Given the description of an element on the screen output the (x, y) to click on. 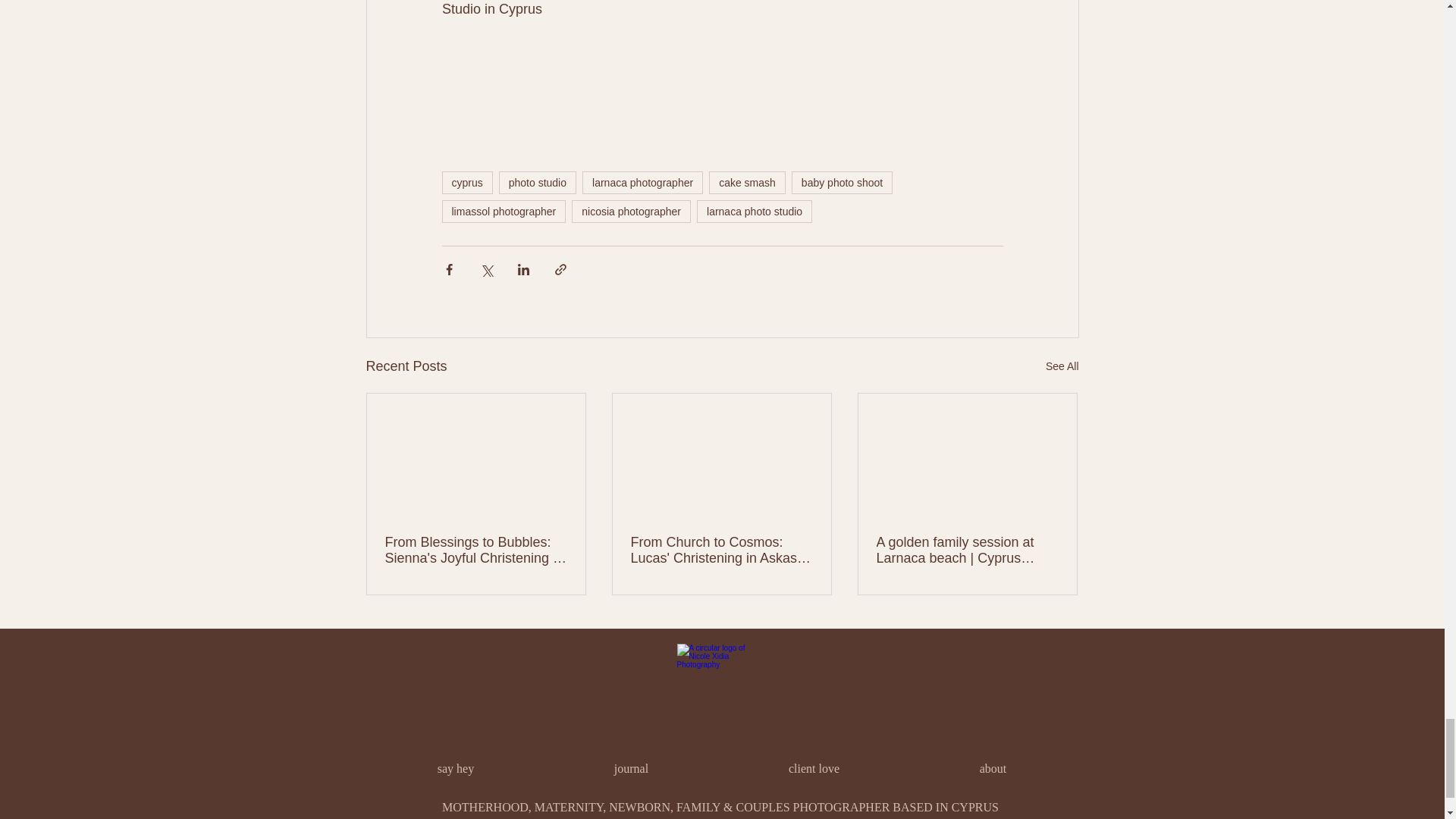
baby photo shoot (842, 182)
journal (631, 768)
limassol photographer (503, 210)
cake smash (747, 182)
say hey (454, 768)
nicosia photographer (631, 210)
larnaca photographer (642, 182)
larnaca photo studio (754, 210)
See All (1061, 366)
about (993, 768)
